Given the description of an element on the screen output the (x, y) to click on. 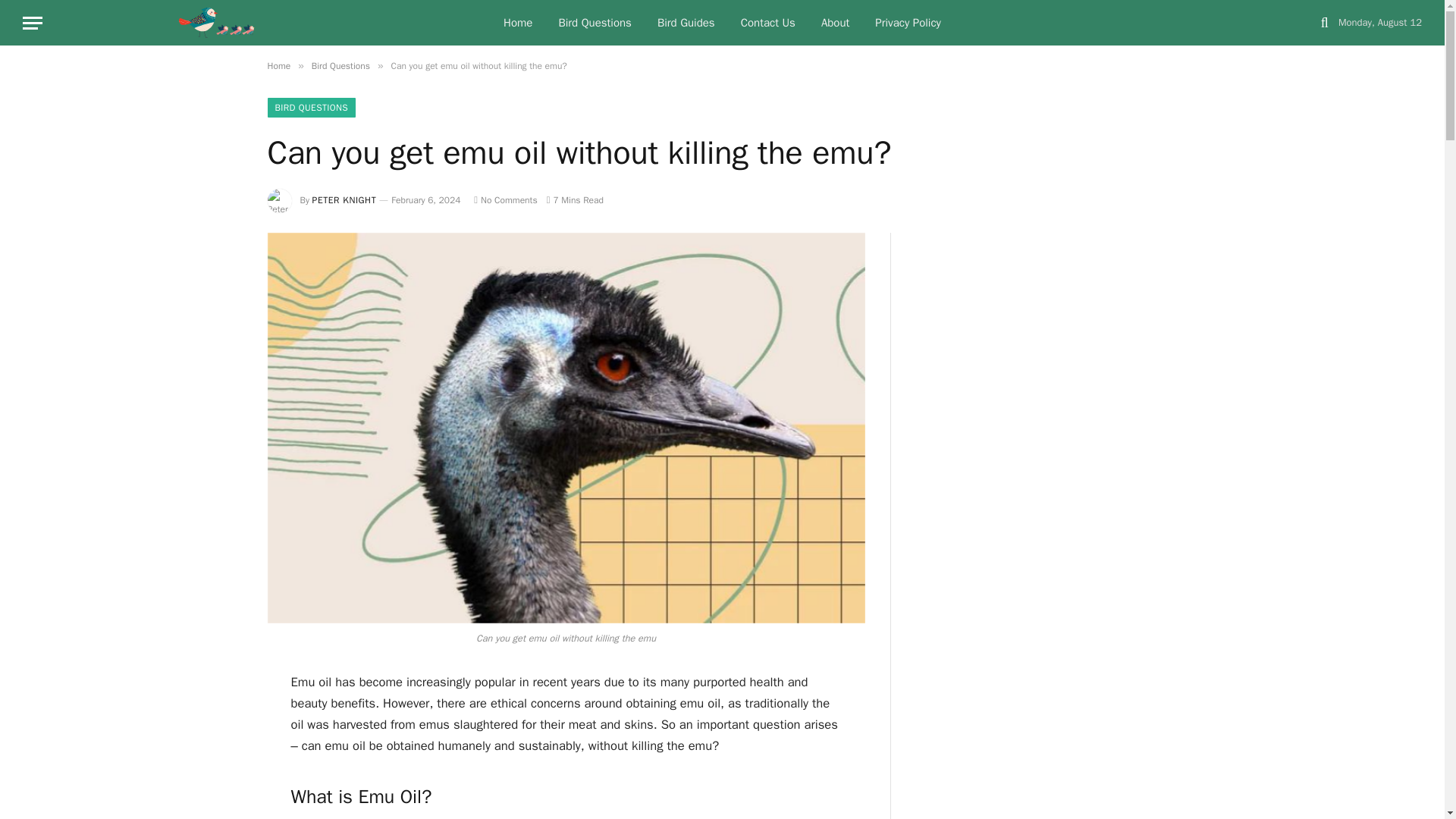
Birdful (216, 22)
Contact Us (768, 22)
Bird Questions (340, 65)
Bird Questions (593, 22)
Home (517, 22)
Bird Guides (686, 22)
PETER KNIGHT (345, 200)
BIRD QUESTIONS (310, 107)
Privacy Policy (907, 22)
No Comments (505, 200)
